Given the description of an element on the screen output the (x, y) to click on. 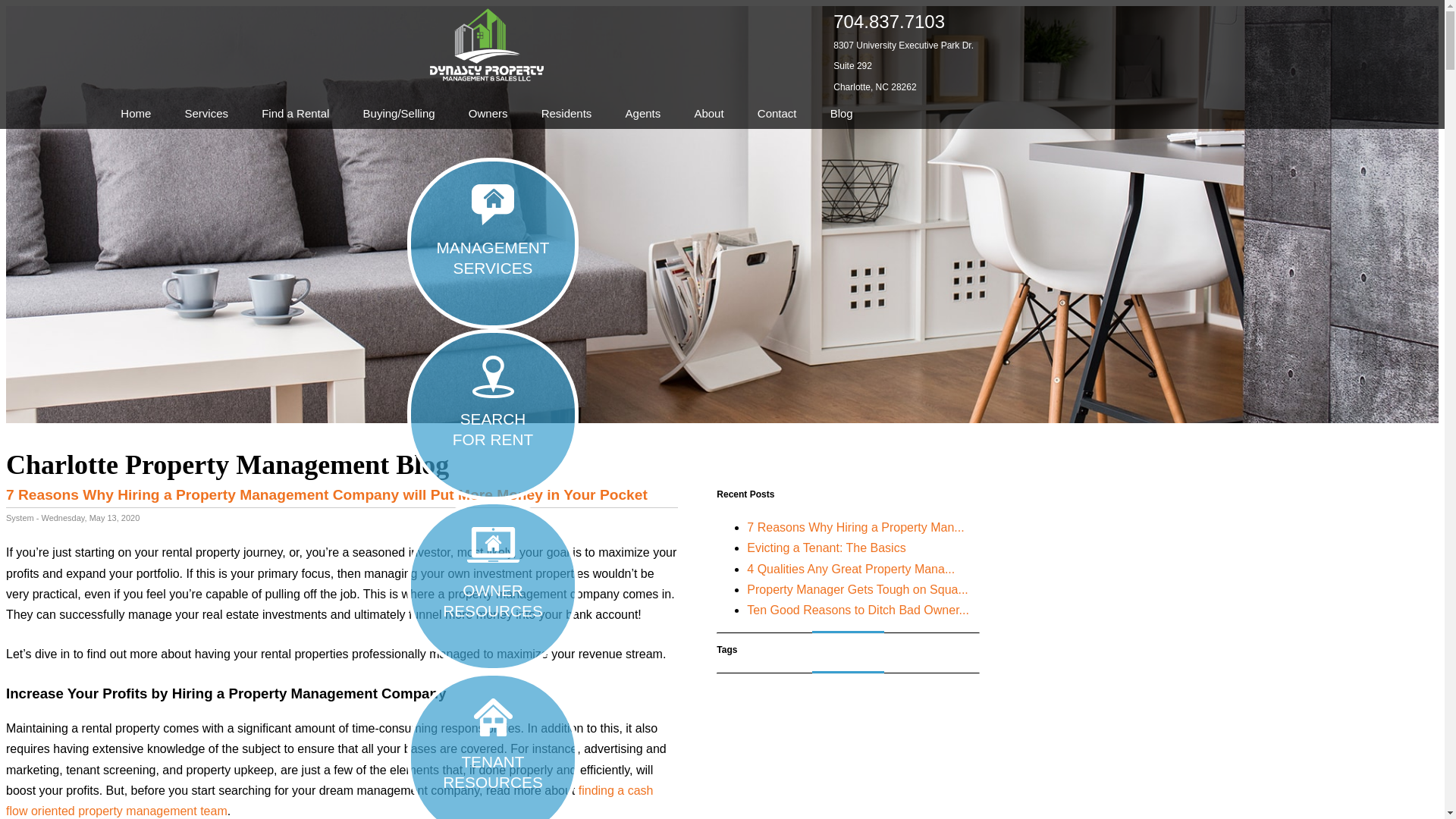
About (707, 113)
Services (205, 113)
Contact (777, 113)
Residents (566, 113)
Blog (841, 113)
Find a Rental (294, 113)
Agents (642, 113)
704.837.7103 (888, 21)
Home (135, 113)
Owners (488, 113)
